Given the description of an element on the screen output the (x, y) to click on. 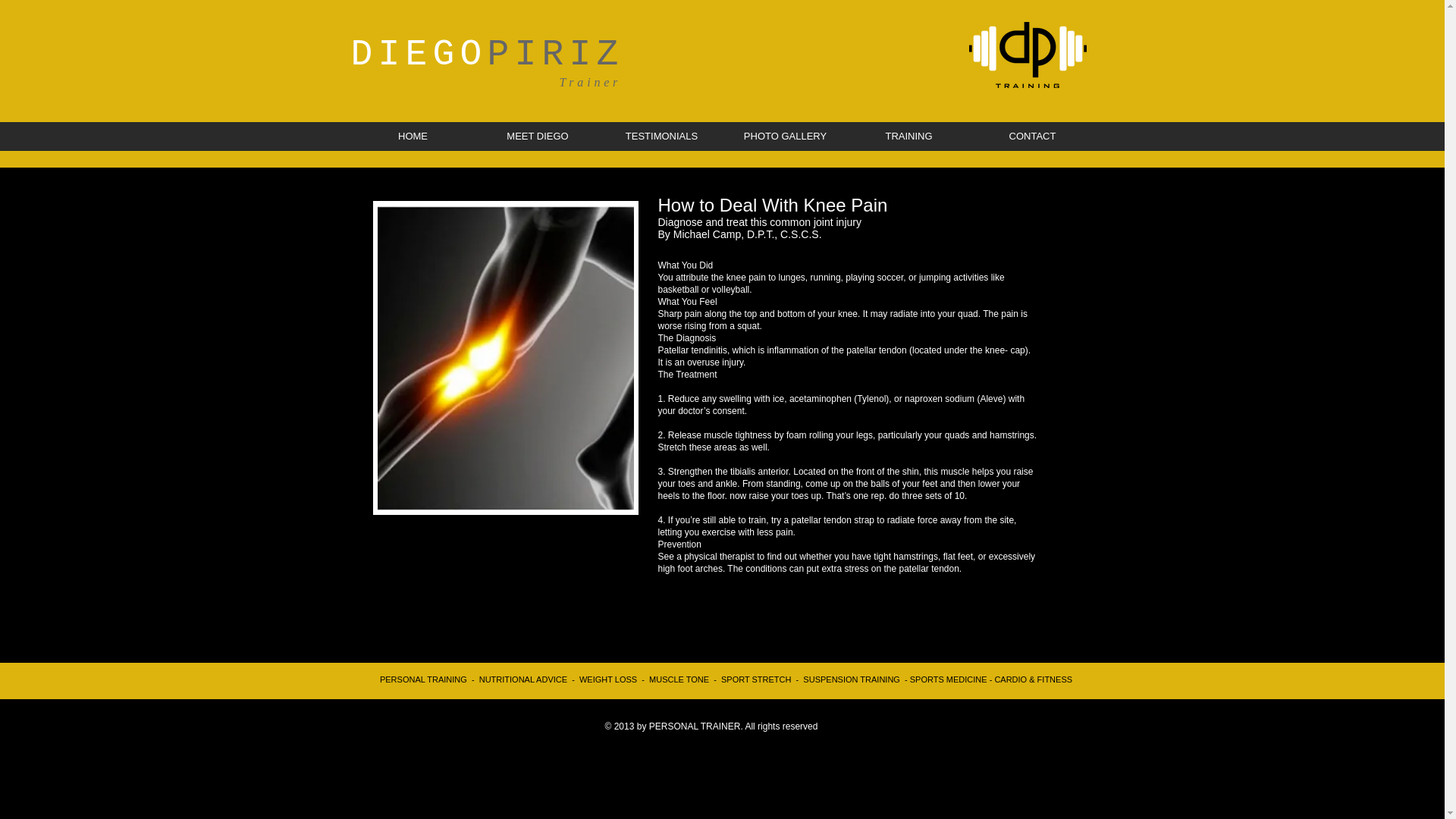
TESTIMONIALS (660, 136)
CONTACT (1032, 136)
TRAINING (907, 136)
MEET DIEGO (536, 136)
DIEGOPIRIZ (486, 57)
PHOTO GALLERY (785, 136)
foam rolling (809, 434)
HOME (412, 136)
